Given the description of an element on the screen output the (x, y) to click on. 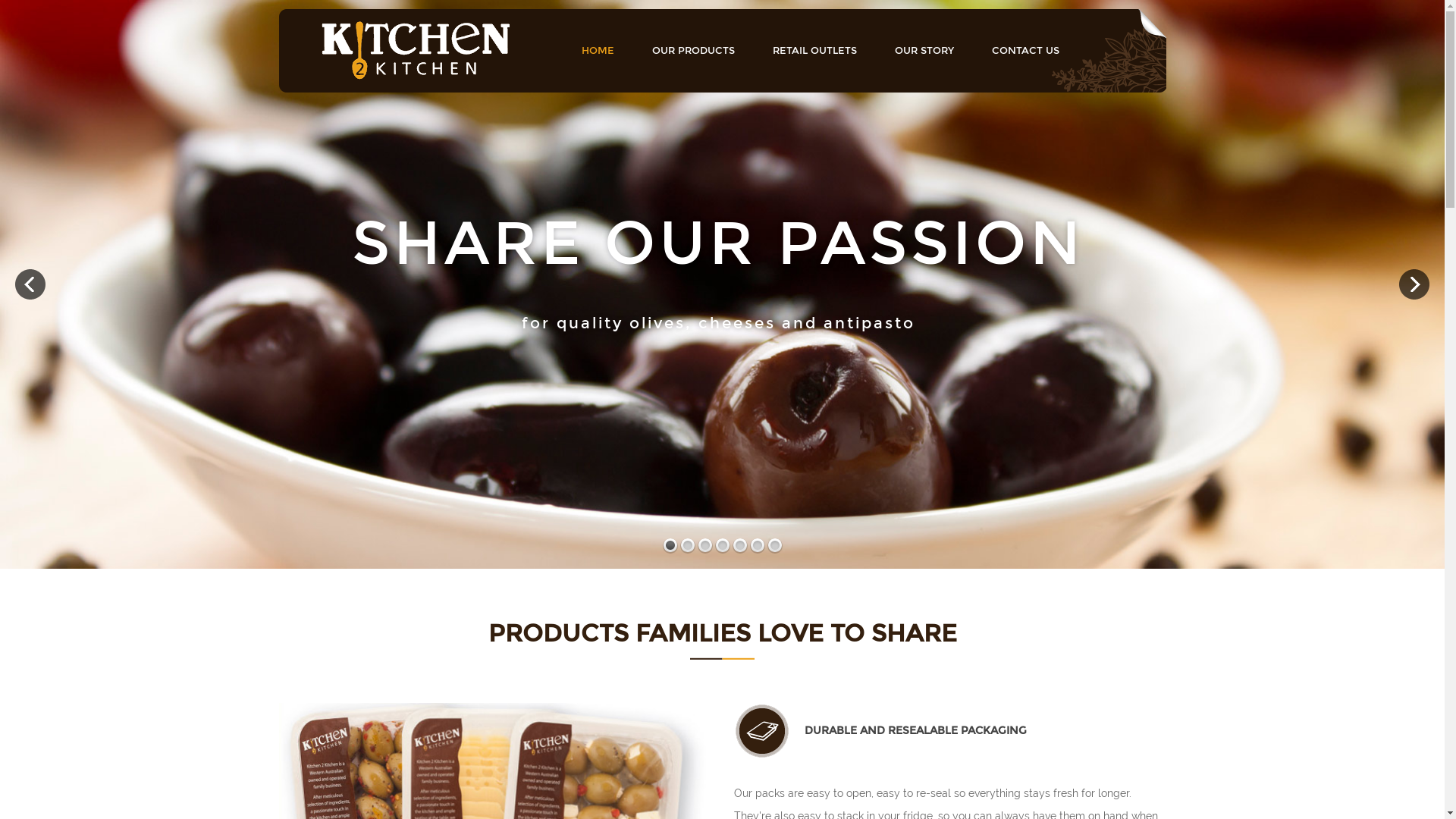
HOME Element type: text (597, 49)
OUR STORY Element type: text (923, 49)
RETAIL OUTLETS Element type: text (814, 49)
OUR PRODUCTS Element type: text (693, 49)
CONTACT US Element type: text (1025, 49)
